Given the description of an element on the screen output the (x, y) to click on. 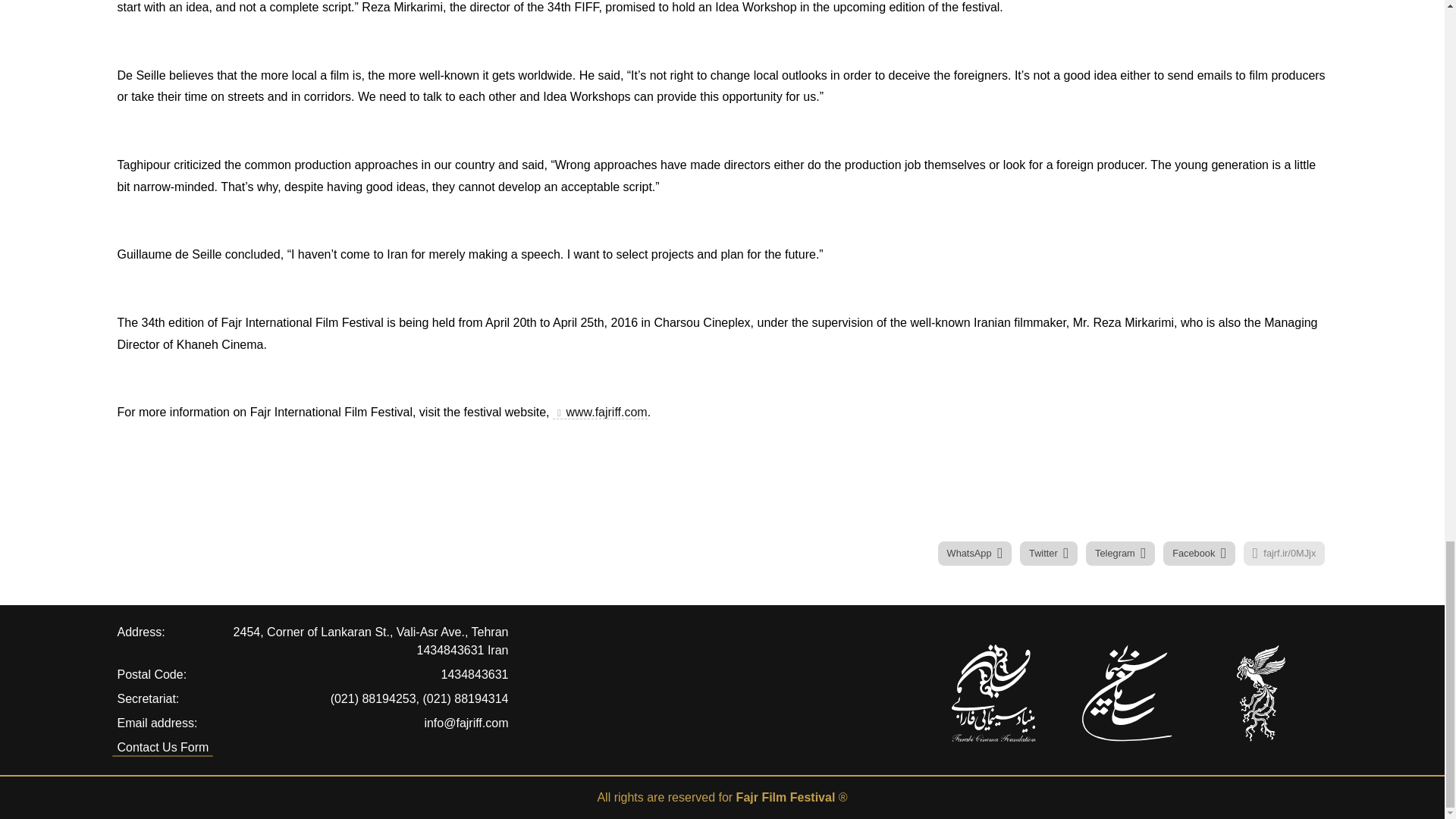
Share on Telegram (1120, 553)
Iranian Organization of Cinema and Audiovisual Affairs (1126, 693)
Share on Twitter (1048, 553)
Share on WhatsApp (974, 553)
41st Fajr International Film Festival (1259, 693)
Share on Facebook (1198, 553)
